Given the description of an element on the screen output the (x, y) to click on. 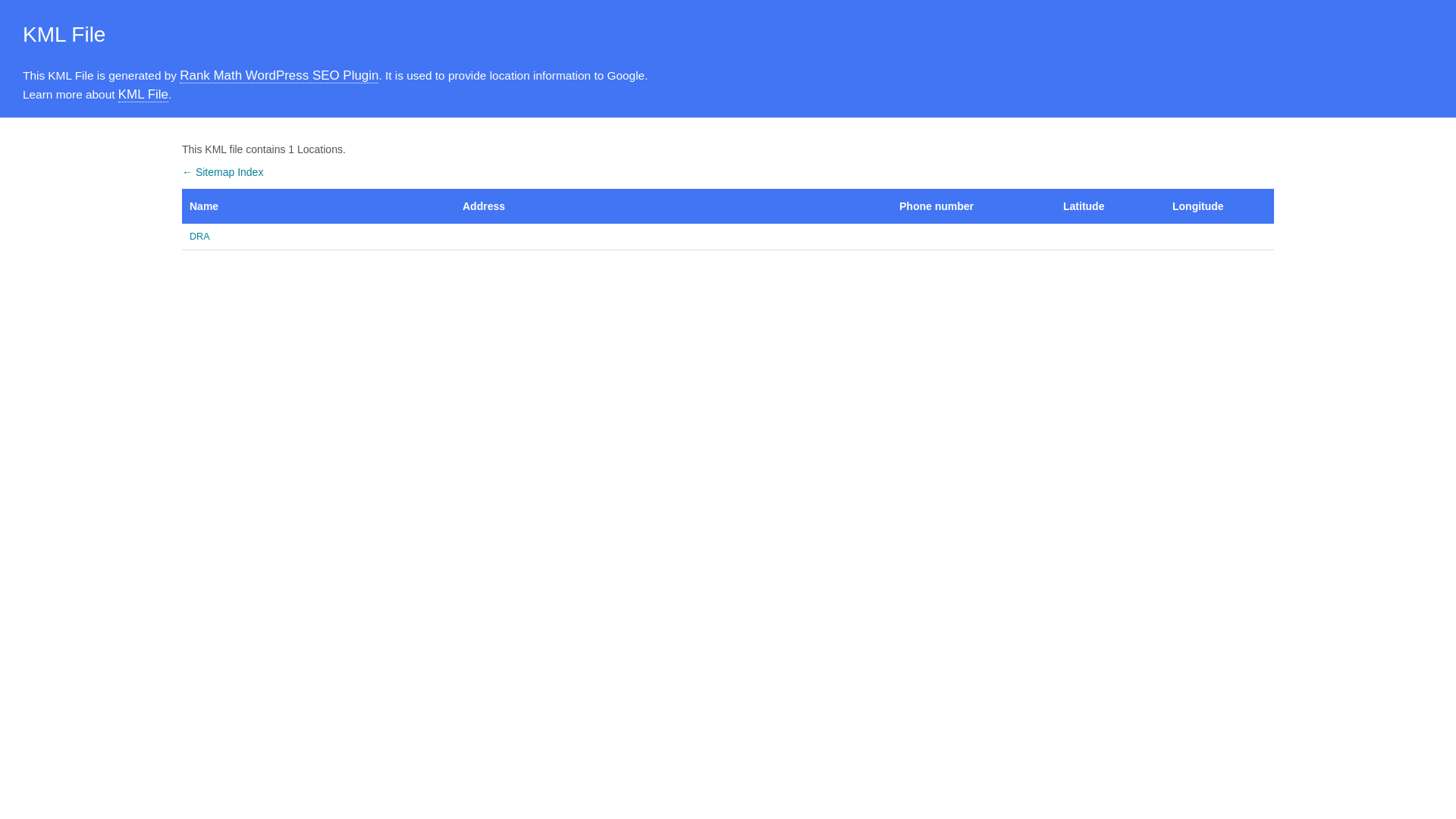
DRA Element type: text (318, 236)
Rank Math WordPress SEO Plugin Element type: text (278, 75)
KML File Element type: text (143, 94)
